Given the description of an element on the screen output the (x, y) to click on. 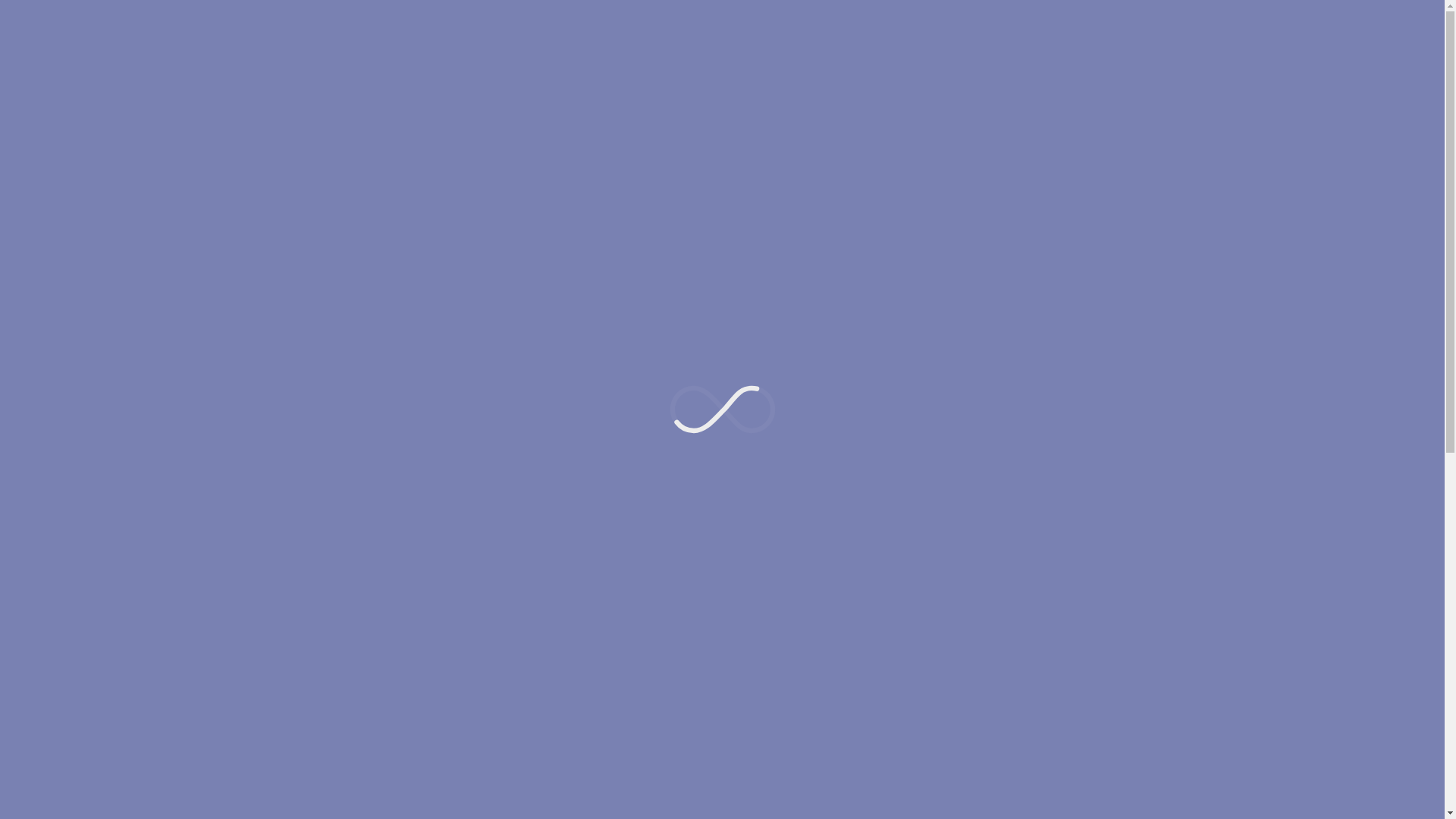
HERE   Element type: text (452, 255)
VAC Bypass Element type: text (589, 555)
: Element type: text (503, 283)
: HERE Element type: text (437, 312)
HERE   Element type: text (447, 226)
:  Element type: text (423, 226)
 HERE  Element type: text (526, 283)
:  Element type: text (429, 255)
